Given the description of an element on the screen output the (x, y) to click on. 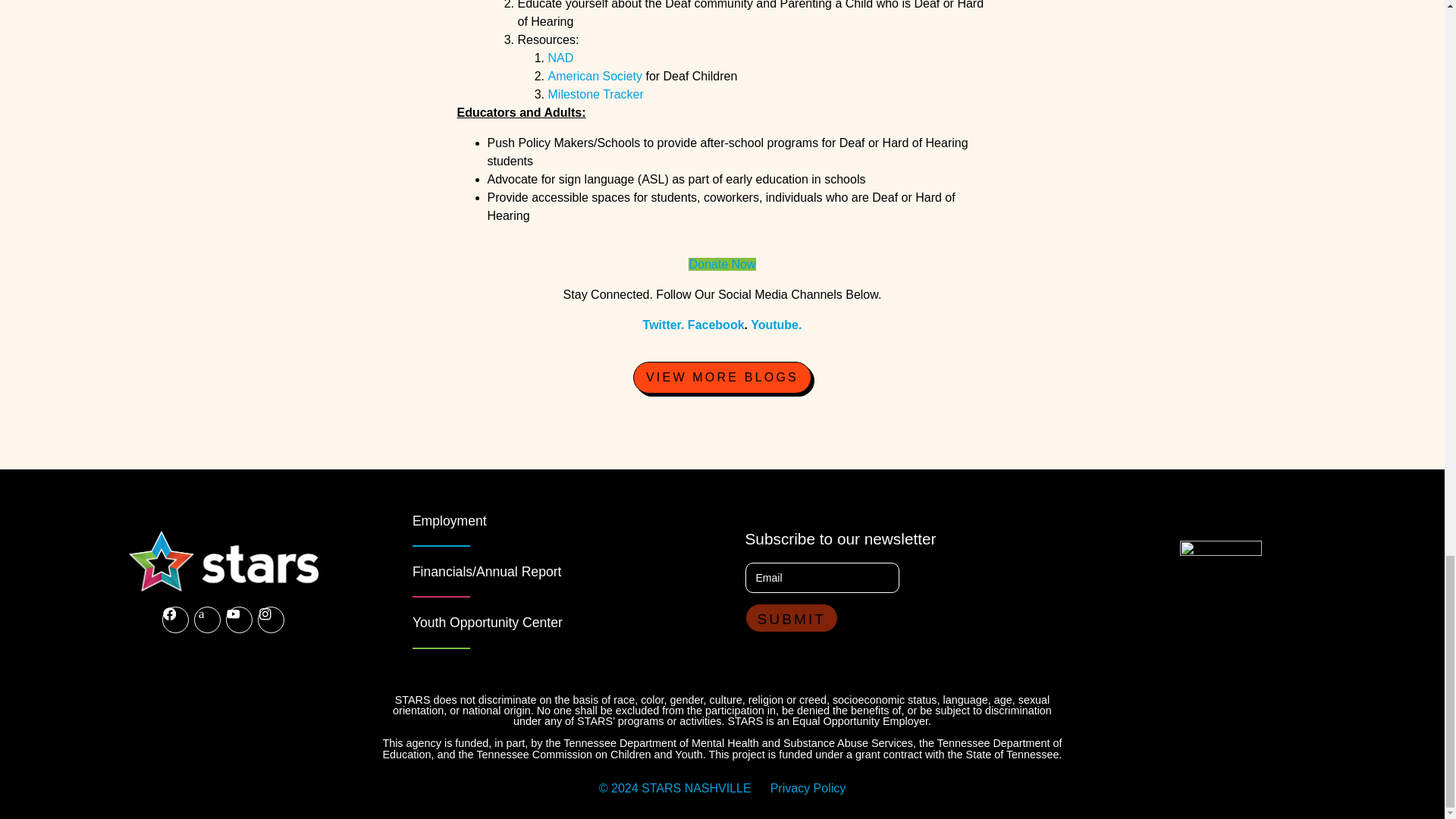
Youtube. (776, 324)
Submit (791, 617)
Milestone Tracker  (596, 93)
VIEW MORE BLOGS (721, 377)
Privacy Policy (807, 788)
Donate Now (721, 264)
Employment (449, 520)
Facebook (715, 324)
Submit (791, 617)
Youth Opportunity Center (487, 622)
American Society (596, 75)
NAD (560, 57)
Twitter. (663, 324)
